Given the description of an element on the screen output the (x, y) to click on. 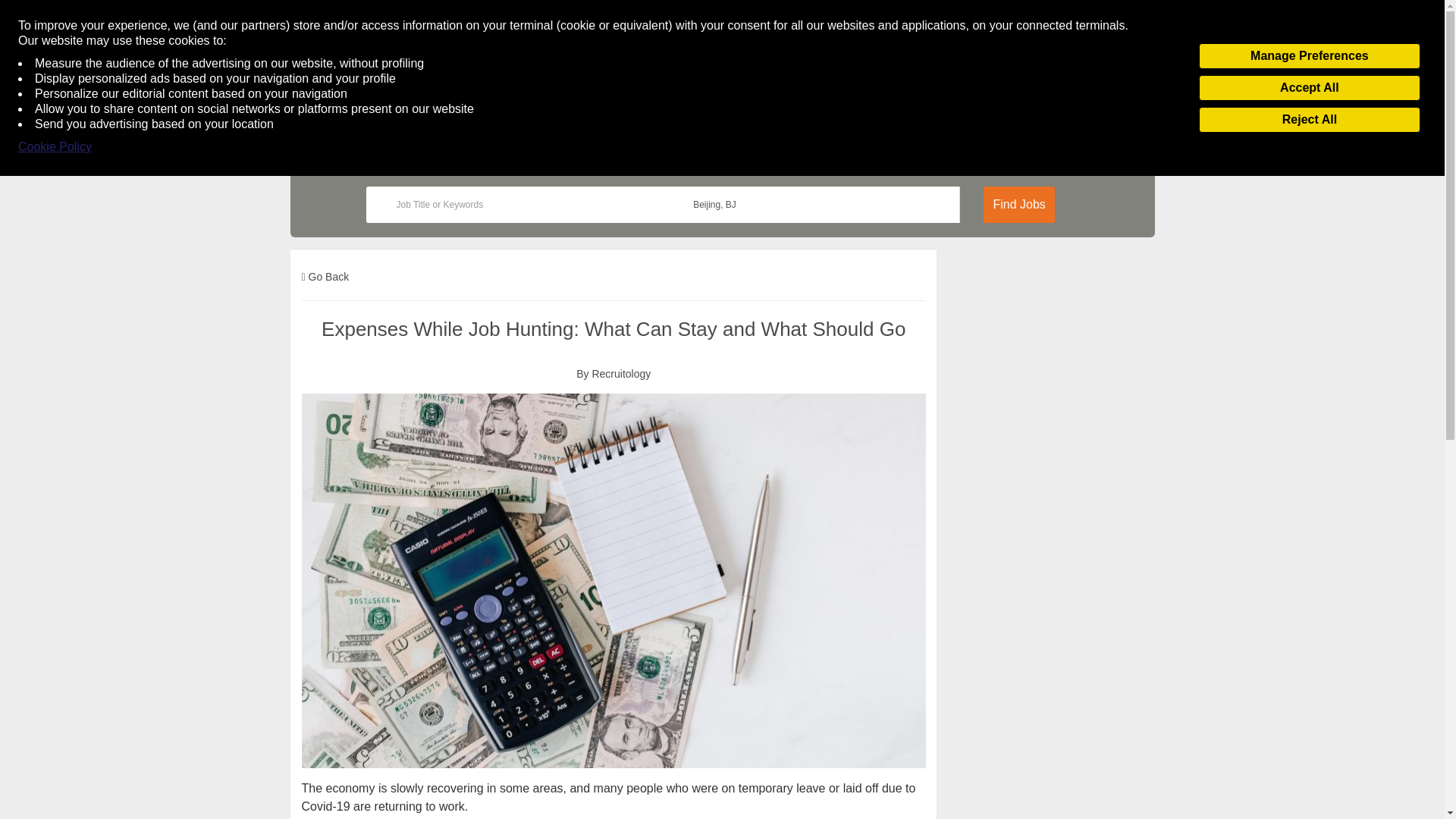
Beijing, BJ (810, 205)
Manage Preferences (1309, 55)
Get Job Alerts (412, 125)
Post a Job (1117, 125)
Jobs (336, 125)
Accept All (1309, 87)
Cookie Policy (54, 146)
Find Jobs (1019, 209)
Reject All (1309, 119)
Employer Login (1010, 125)
Beijing, BJ (810, 205)
Go Back (325, 276)
